Given the description of an element on the screen output the (x, y) to click on. 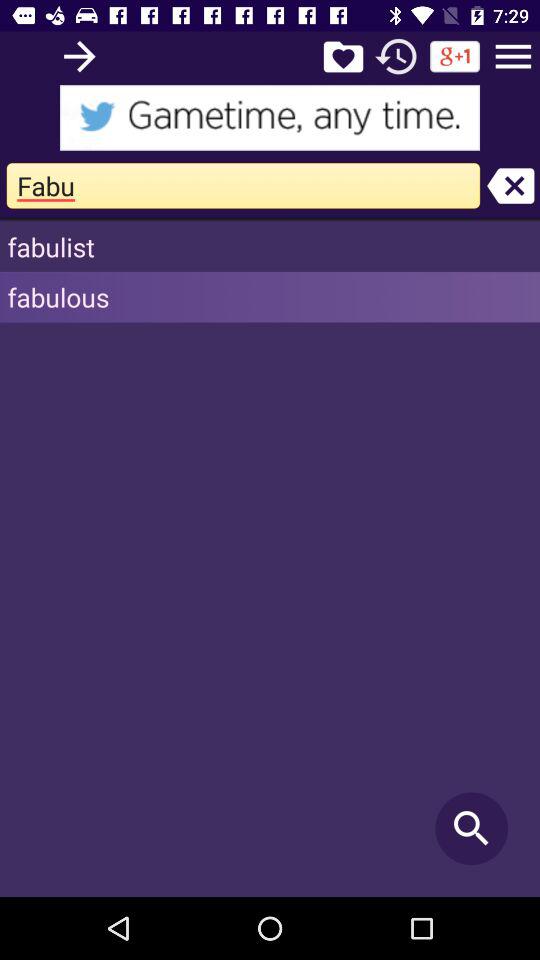
go to favorites (343, 56)
